Given the description of an element on the screen output the (x, y) to click on. 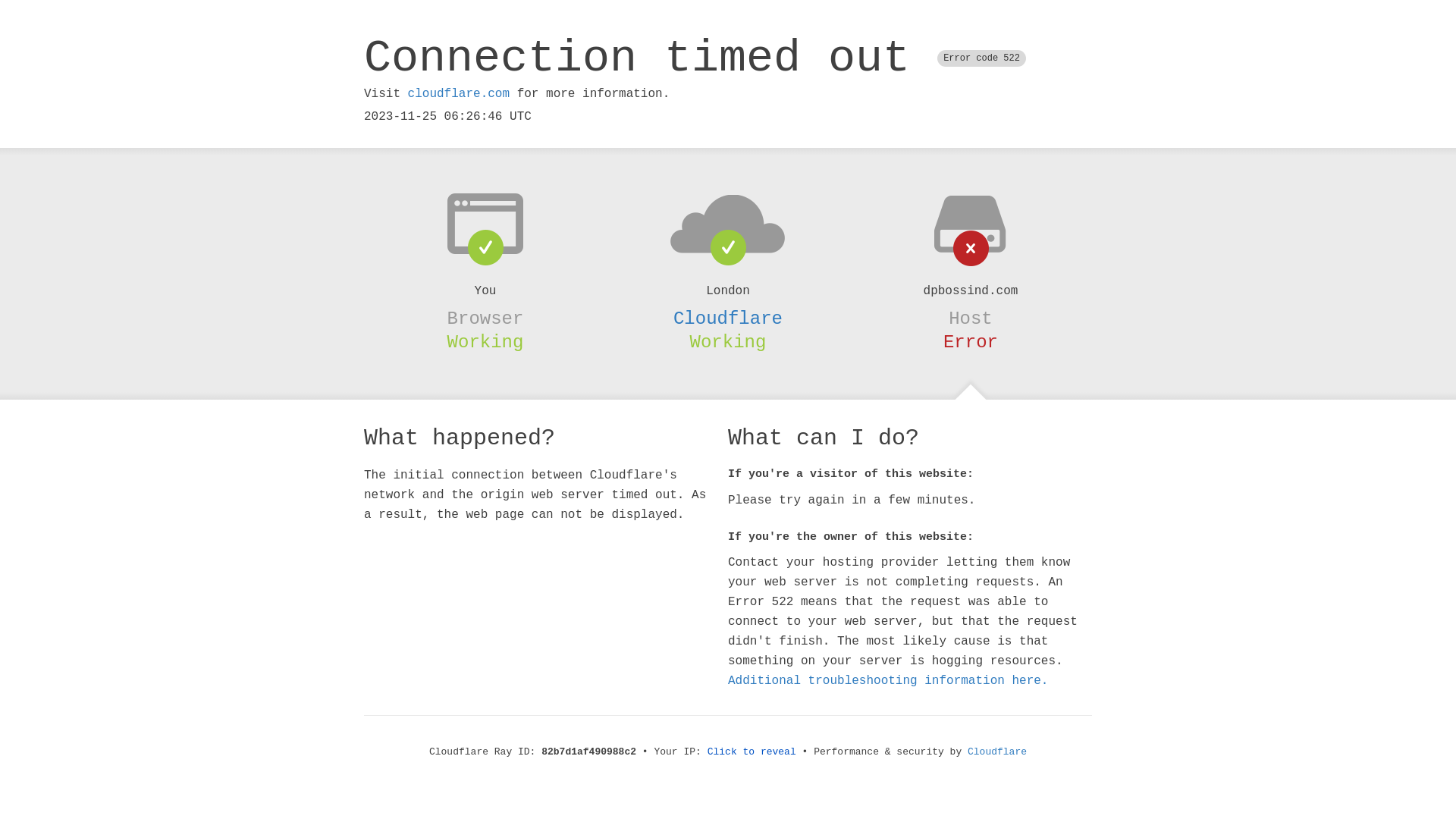
Click to reveal Element type: text (751, 751)
cloudflare.com Element type: text (458, 93)
Cloudflare Element type: text (996, 751)
Cloudflare Element type: text (727, 318)
Additional troubleshooting information here. Element type: text (888, 680)
